Given the description of an element on the screen output the (x, y) to click on. 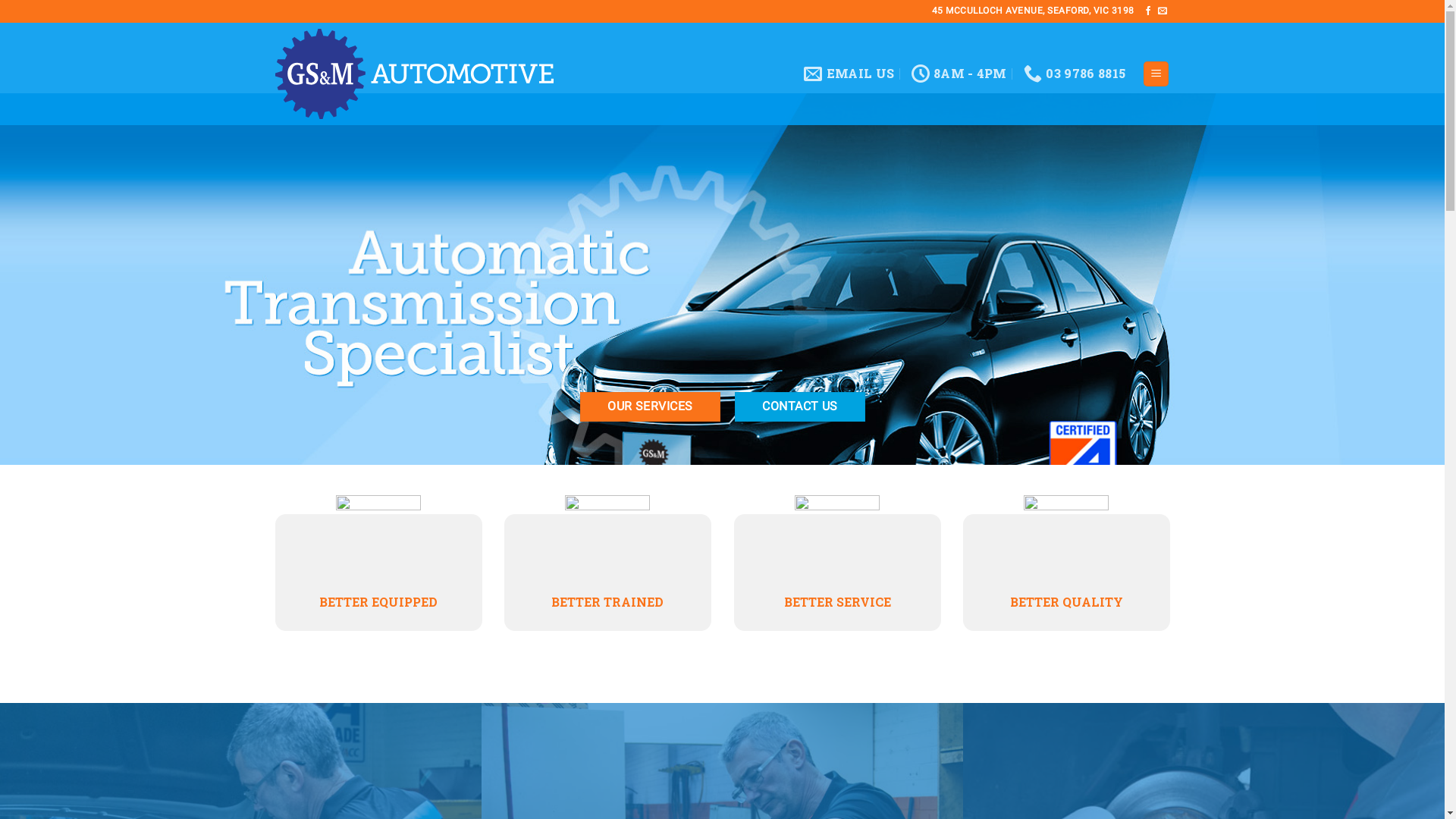
03 9786 8815 Element type: text (1074, 73)
Send us an email Element type: hover (1162, 11)
Follow on Facebook Element type: hover (1147, 11)
8AM - 4PM Element type: text (959, 73)
EMAIL US Element type: text (848, 73)
Skip to content Element type: text (0, 0)
OUR SERVICES Element type: text (650, 406)
GS & M Automotive - Seaford Mechanical Repairs Element type: hover (413, 73)
CONTACT US Element type: text (799, 406)
